Given the description of an element on the screen output the (x, y) to click on. 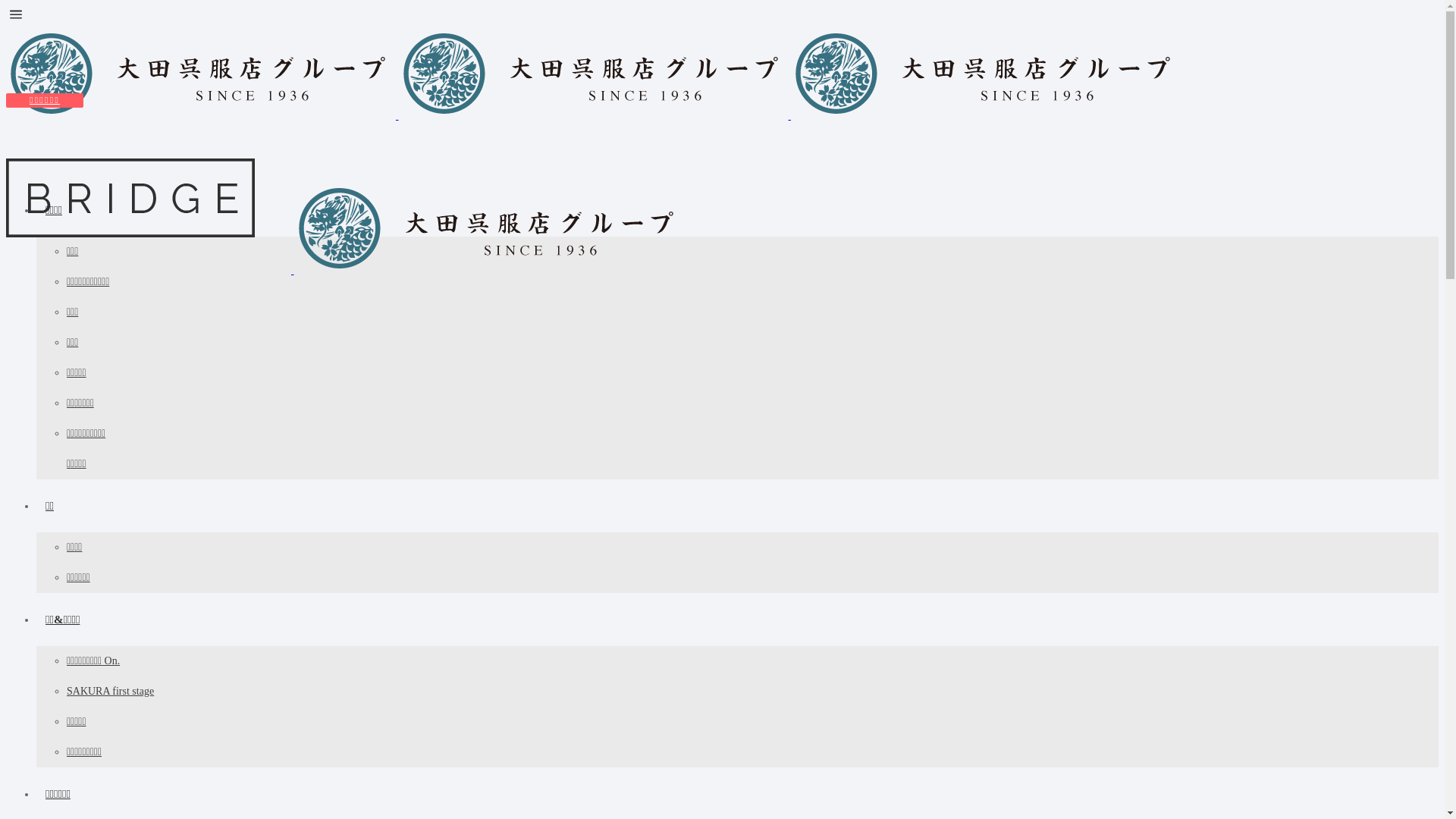
SAKURA first stage Element type: text (109, 690)
